Given the description of an element on the screen output the (x, y) to click on. 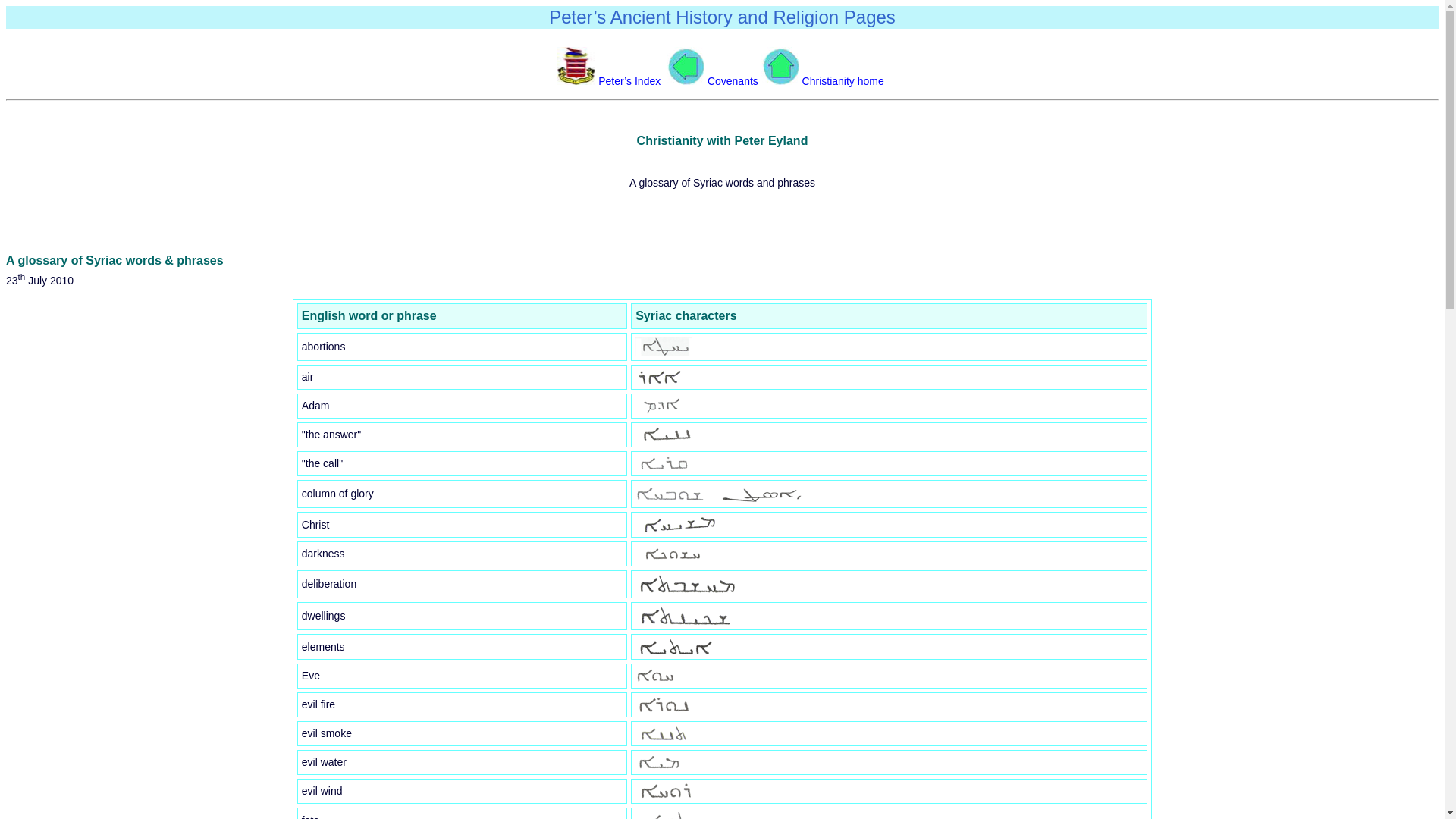
Covenants Element type: text (712, 81)
 Christianity home  Element type: text (824, 81)
